Given the description of an element on the screen output the (x, y) to click on. 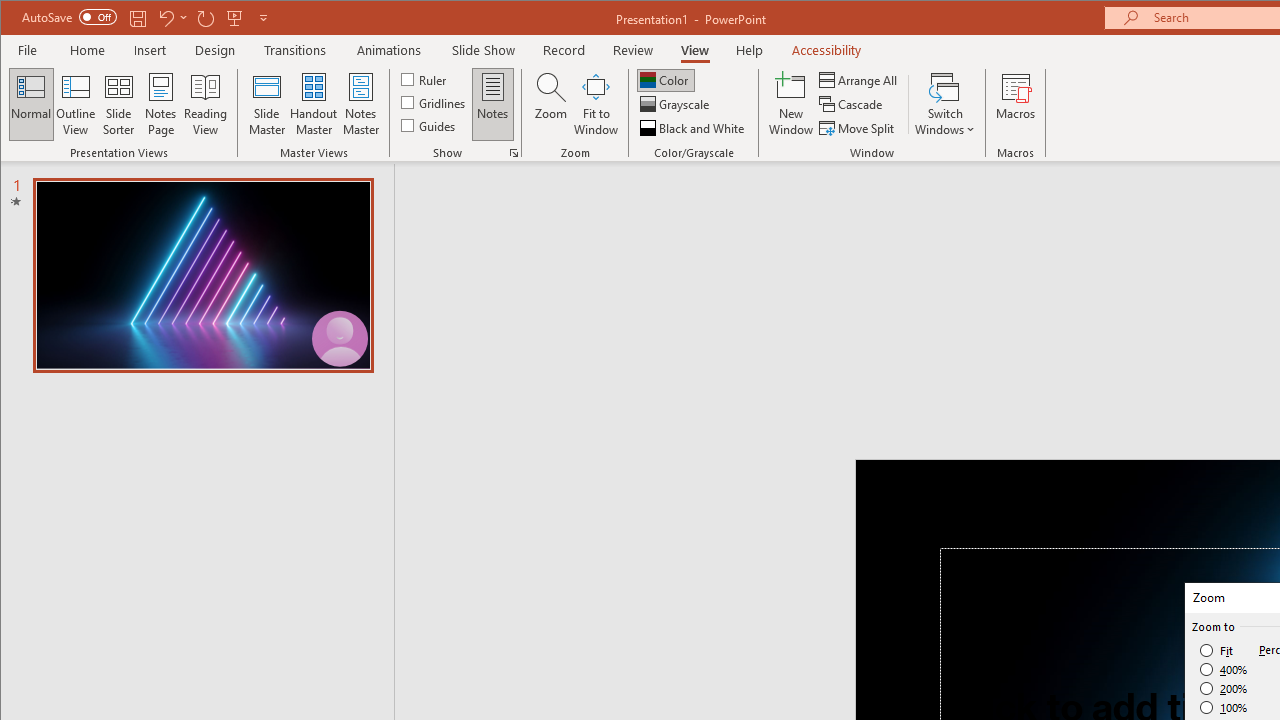
Gridlines (435, 101)
100% (1224, 707)
Macros (1016, 104)
Notes Page (160, 104)
Cascade (852, 103)
